Given the description of an element on the screen output the (x, y) to click on. 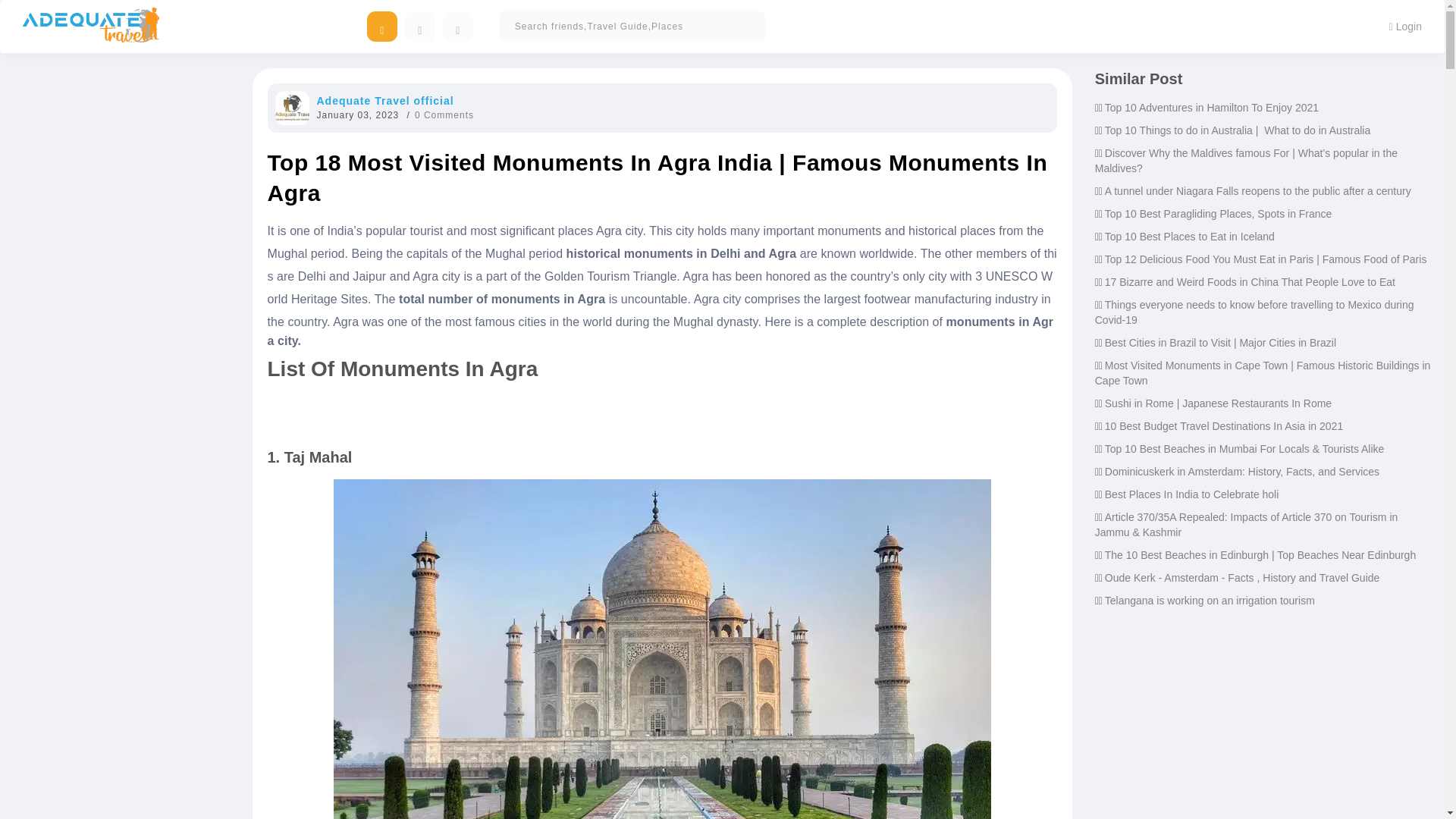
Login (1404, 26)
Dominicuskerk in Amsterdam: History, Facts, and Services (1241, 471)
Adequate Travel official (385, 101)
Top 10 Best Paragliding Places, Spots in France (1218, 214)
Telangana is working on an irrigation tourism (1209, 600)
0 Comments (444, 114)
Best Places In India to Celebrate holi (1192, 494)
17 Bizarre and Weird Foods in China That People Love to Eat (1249, 282)
10 Best Budget Travel Destinations In Asia in 2021 (1223, 426)
Oude Kerk - Amsterdam - Facts , History and Travel Guide (1242, 577)
Top 10 Best Places to Eat in Iceland (1190, 236)
Top 10 Adventures in Hamilton To Enjoy 2021 (1212, 107)
